Given the description of an element on the screen output the (x, y) to click on. 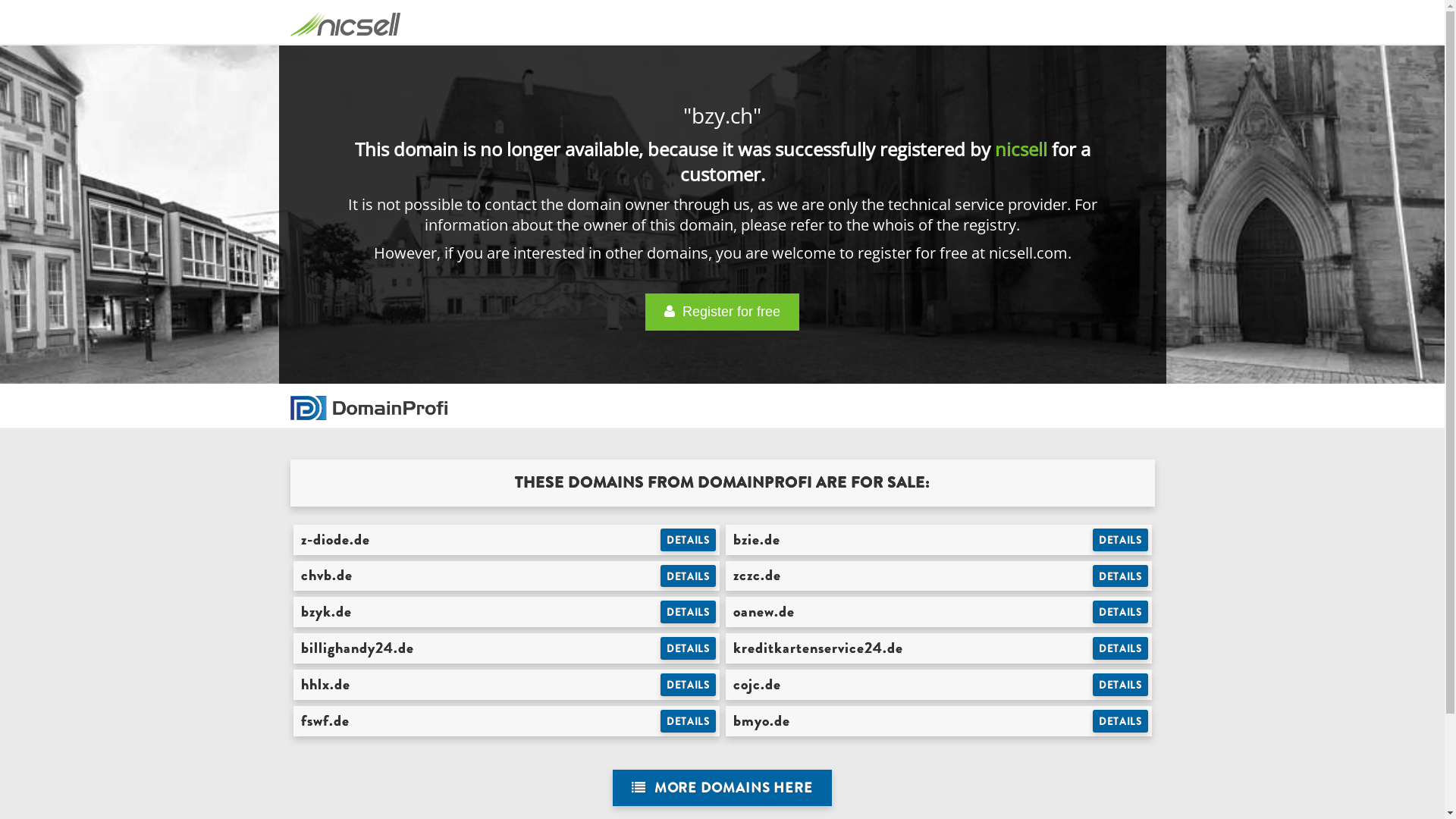
DETAILS Element type: text (1120, 539)
DETAILS Element type: text (1120, 720)
nicsell Element type: text (1020, 148)
DETAILS Element type: text (1120, 575)
DETAILS Element type: text (687, 575)
DETAILS Element type: text (1120, 611)
DETAILS Element type: text (687, 720)
  Register for free Element type: text (722, 311)
DETAILS Element type: text (687, 684)
DETAILS Element type: text (687, 539)
DETAILS Element type: text (687, 648)
DETAILS Element type: text (1120, 684)
  MORE DOMAINS HERE Element type: text (721, 787)
DETAILS Element type: text (1120, 648)
DETAILS Element type: text (687, 611)
